Given the description of an element on the screen output the (x, y) to click on. 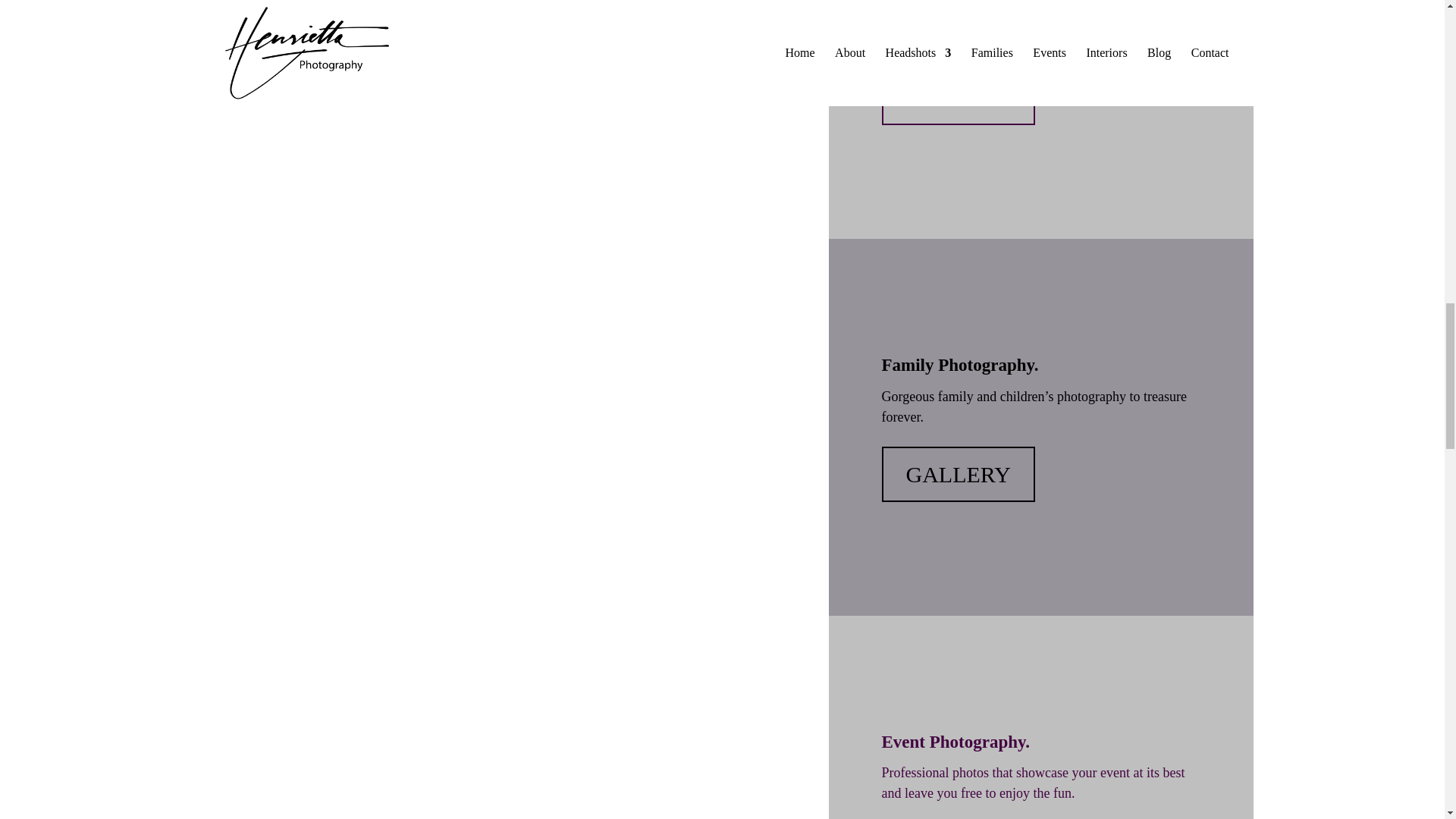
GALLERY (956, 97)
GALLERY (956, 473)
